Given the description of an element on the screen output the (x, y) to click on. 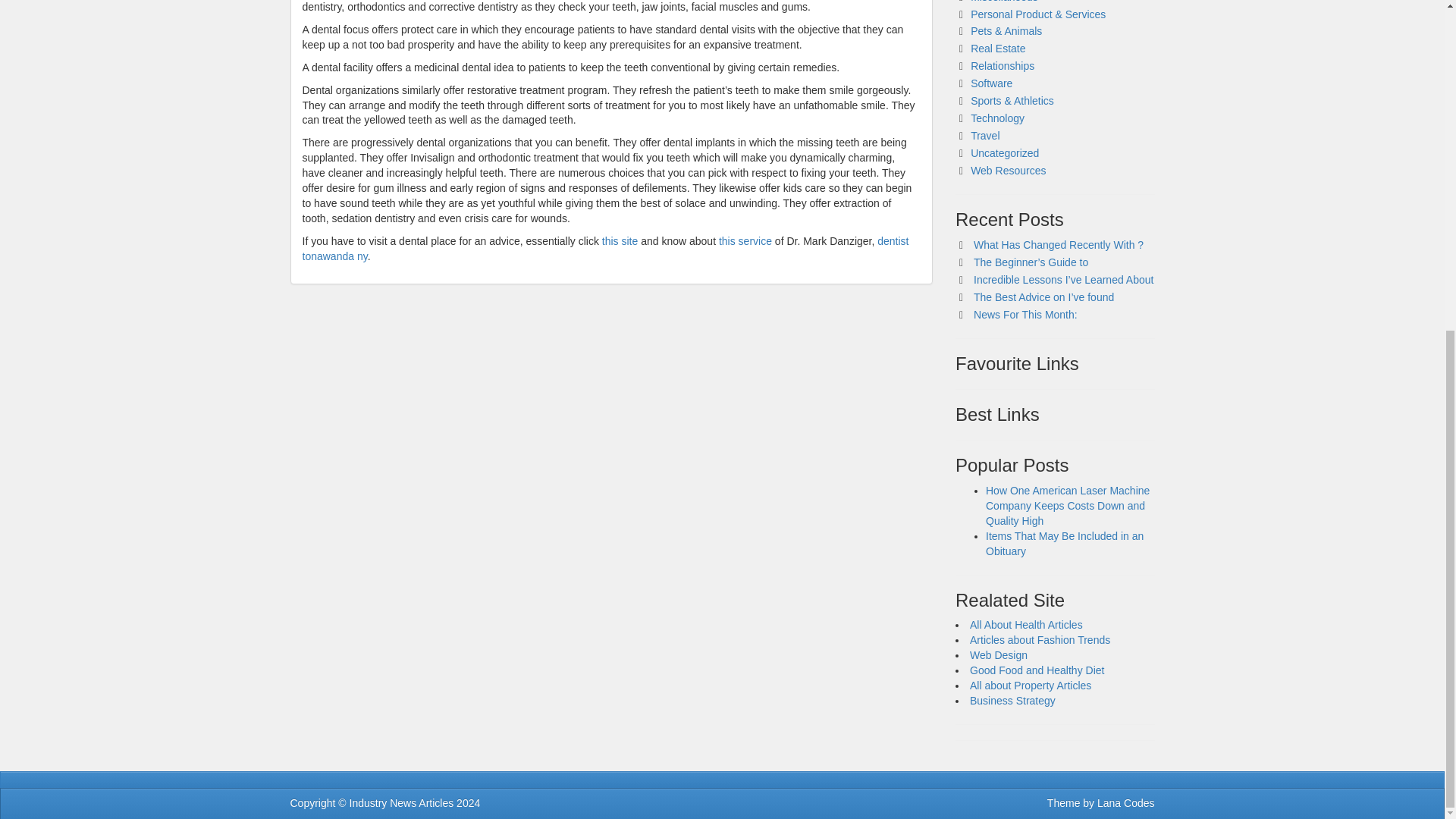
Web Resources (1008, 170)
dentist tonawanda ny (604, 248)
What Has Changed Recently With ? (1058, 244)
Travel (984, 135)
this service (745, 241)
Real Estate (998, 48)
Relationships (1002, 65)
Items That May Be Included in an Obituary (1063, 543)
this site (619, 241)
